Given the description of an element on the screen output the (x, y) to click on. 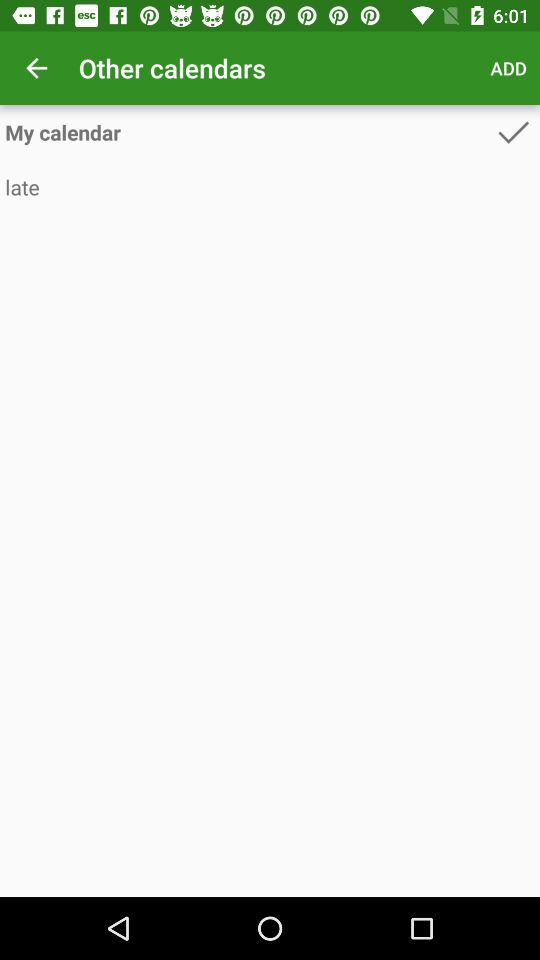
launch the icon next to my calendar icon (513, 132)
